Given the description of an element on the screen output the (x, y) to click on. 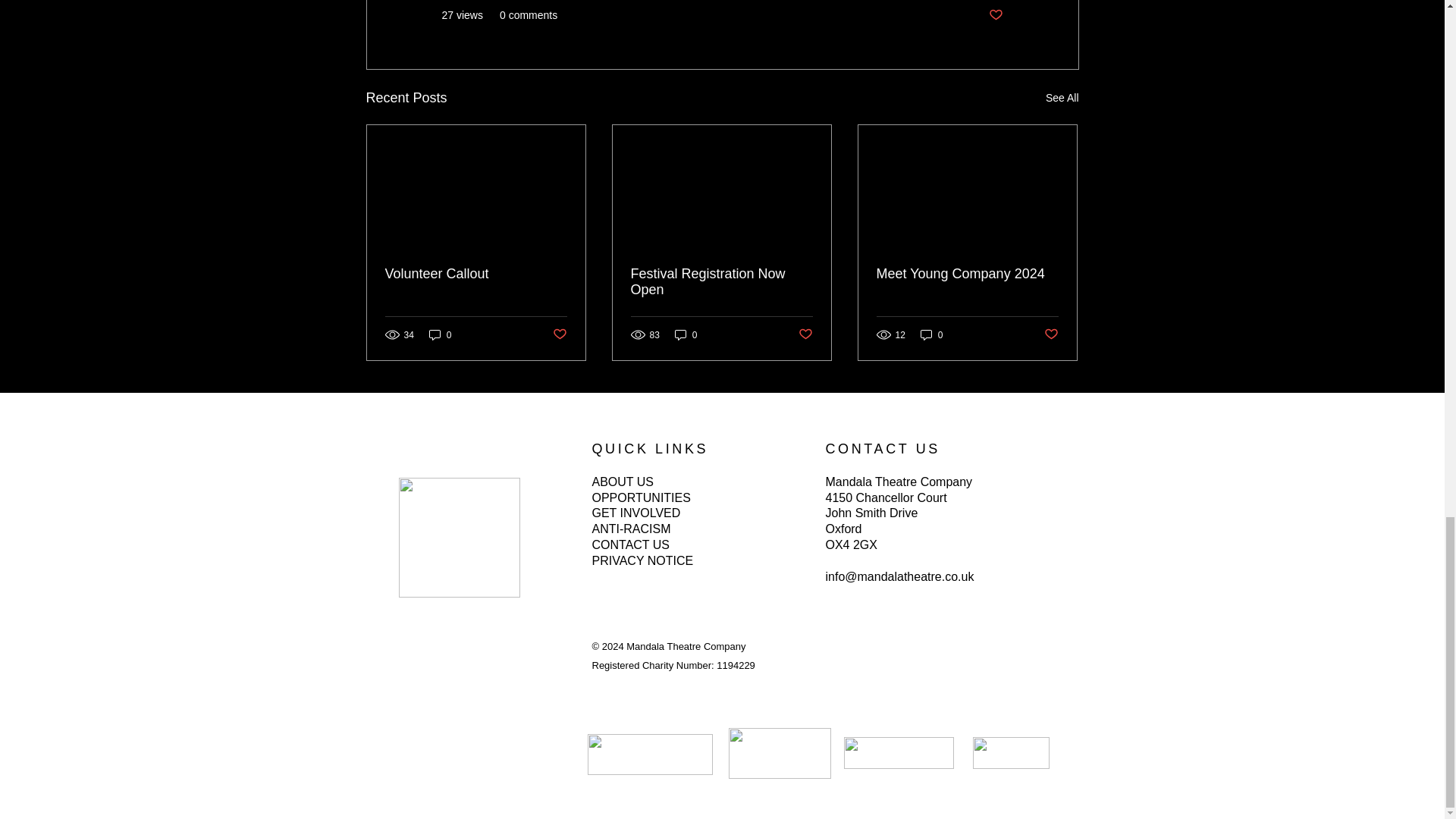
CONTACT US (630, 544)
0 (931, 334)
Post not marked as liked (995, 15)
Volunteer Callout (476, 273)
Festival Registration Now Open (721, 282)
ABOUT US (622, 481)
See All (1061, 97)
0 (440, 334)
Post not marked as liked (558, 334)
OPPORTUNITIES  (642, 497)
0 (685, 334)
Meet Young Company 2024 (967, 273)
Post not marked as liked (1050, 334)
GET INVOLVED (635, 512)
Oxfordshire-Youth-logo-2.png (898, 753)
